Given the description of an element on the screen output the (x, y) to click on. 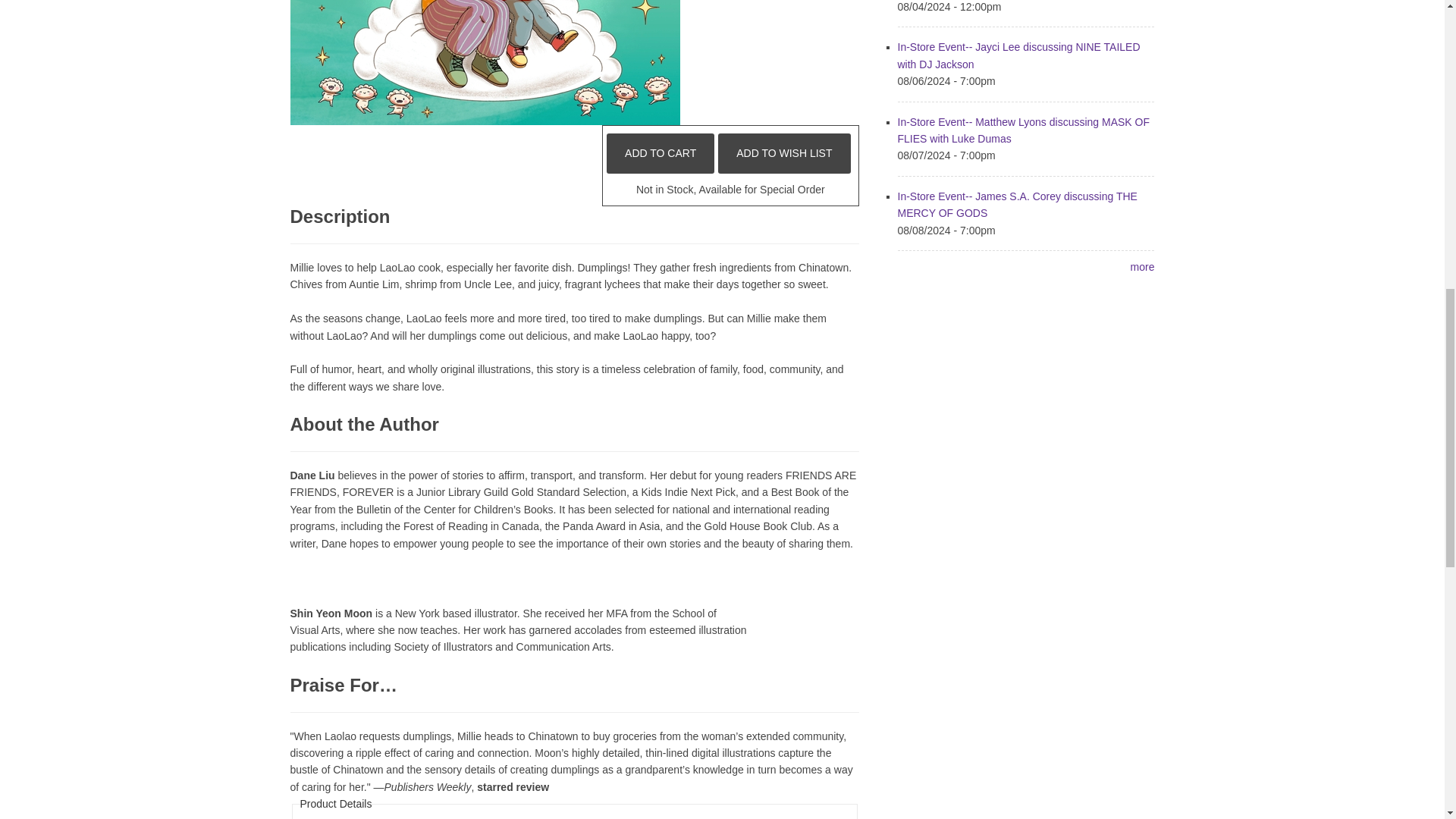
Add to Cart (660, 152)
Add to Wish List (783, 152)
